Given the description of an element on the screen output the (x, y) to click on. 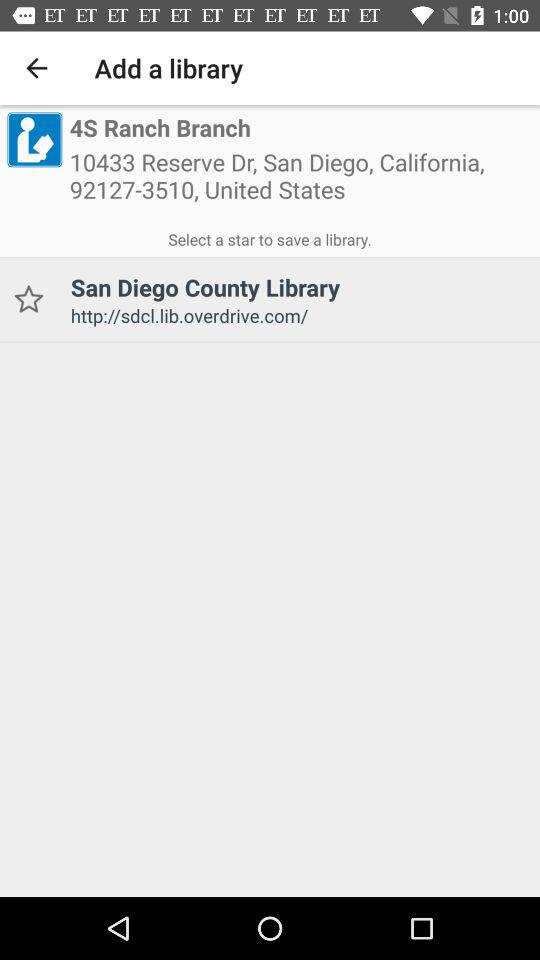
add to favorites (28, 299)
